Given the description of an element on the screen output the (x, y) to click on. 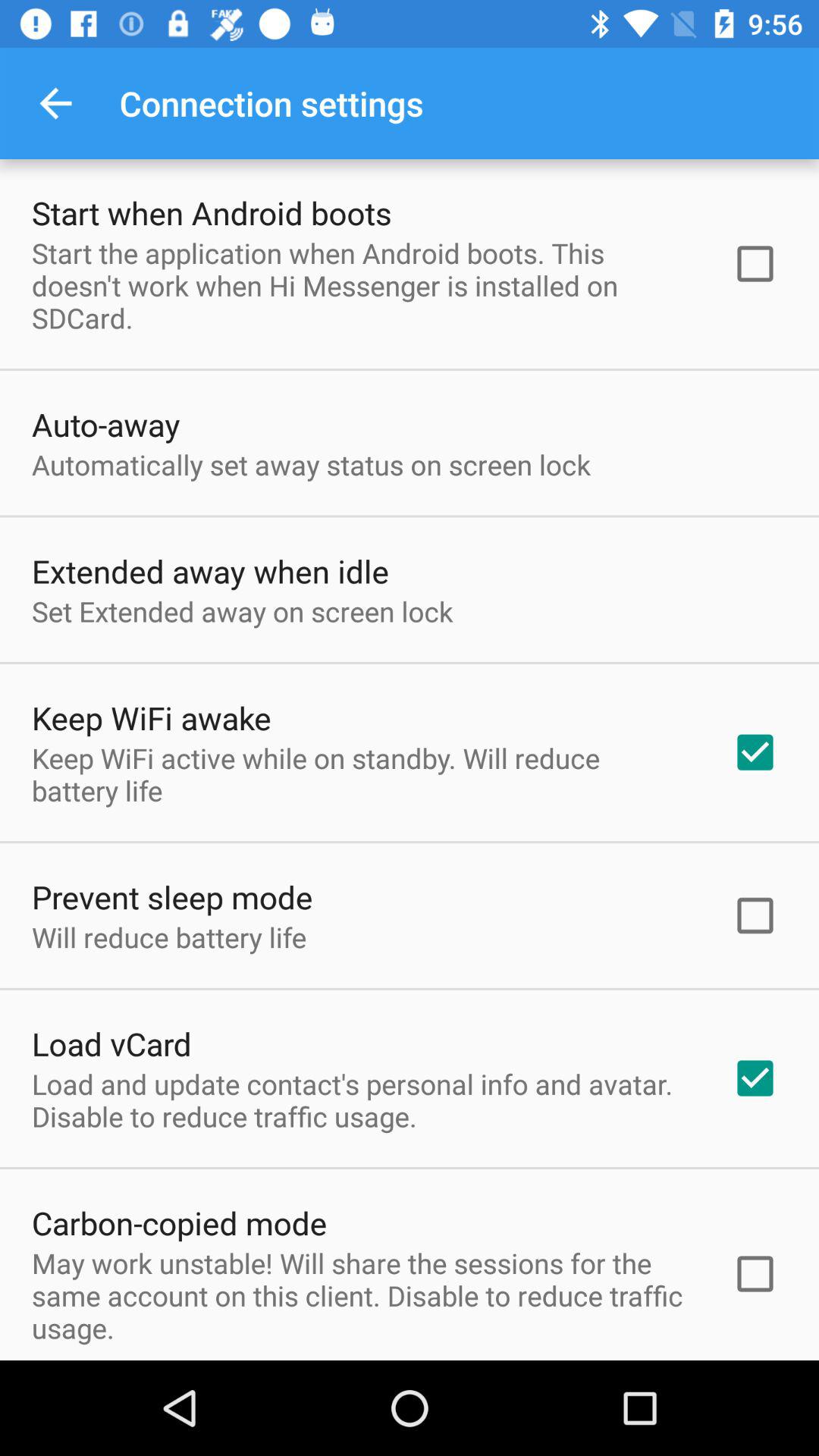
choose the icon above the automatically set away (105, 423)
